Given the description of an element on the screen output the (x, y) to click on. 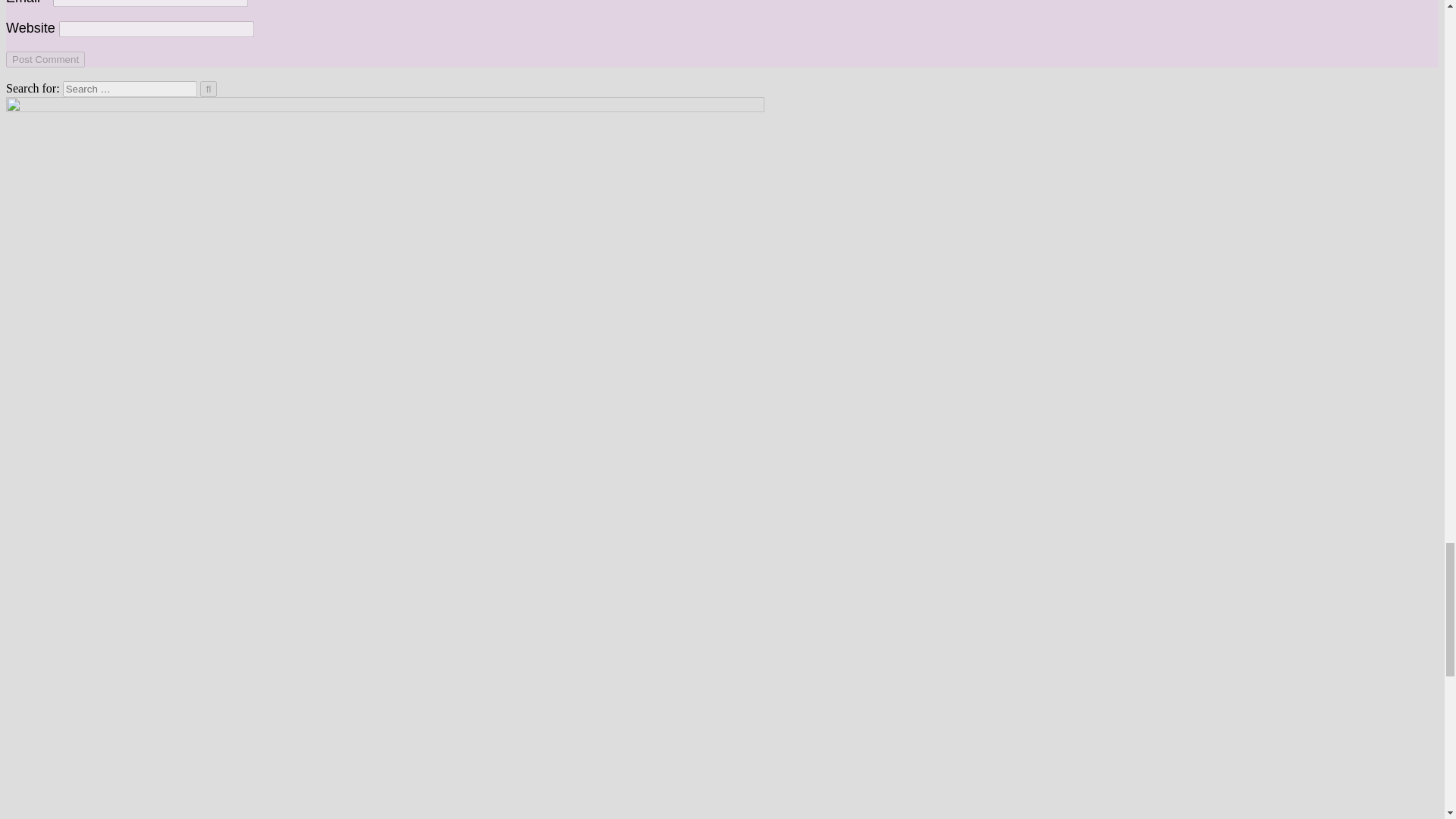
Post Comment (44, 59)
